Given the description of an element on the screen output the (x, y) to click on. 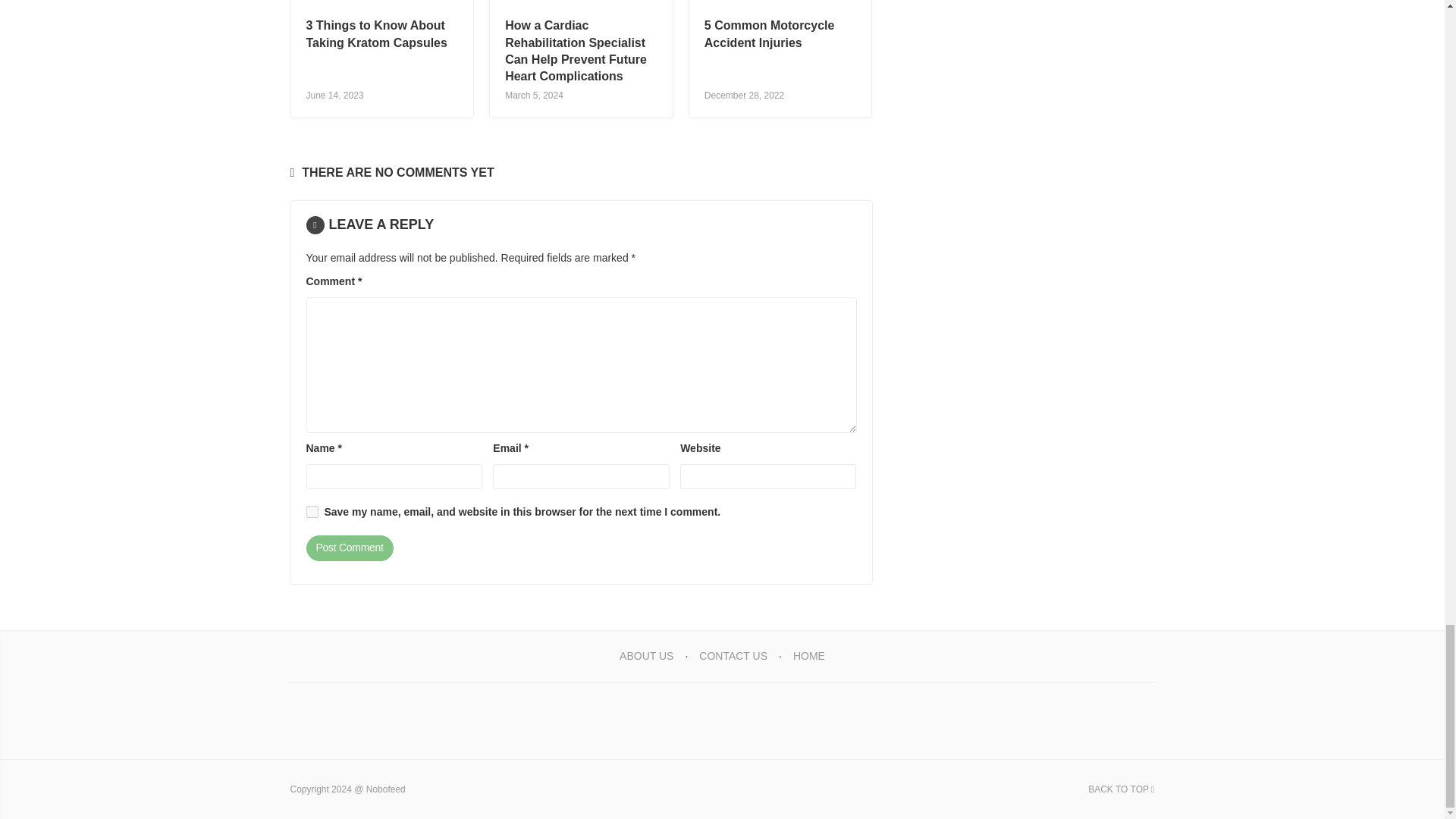
yes (311, 511)
BACK TO TOP  (1120, 789)
Post Comment (349, 548)
